Given the description of an element on the screen output the (x, y) to click on. 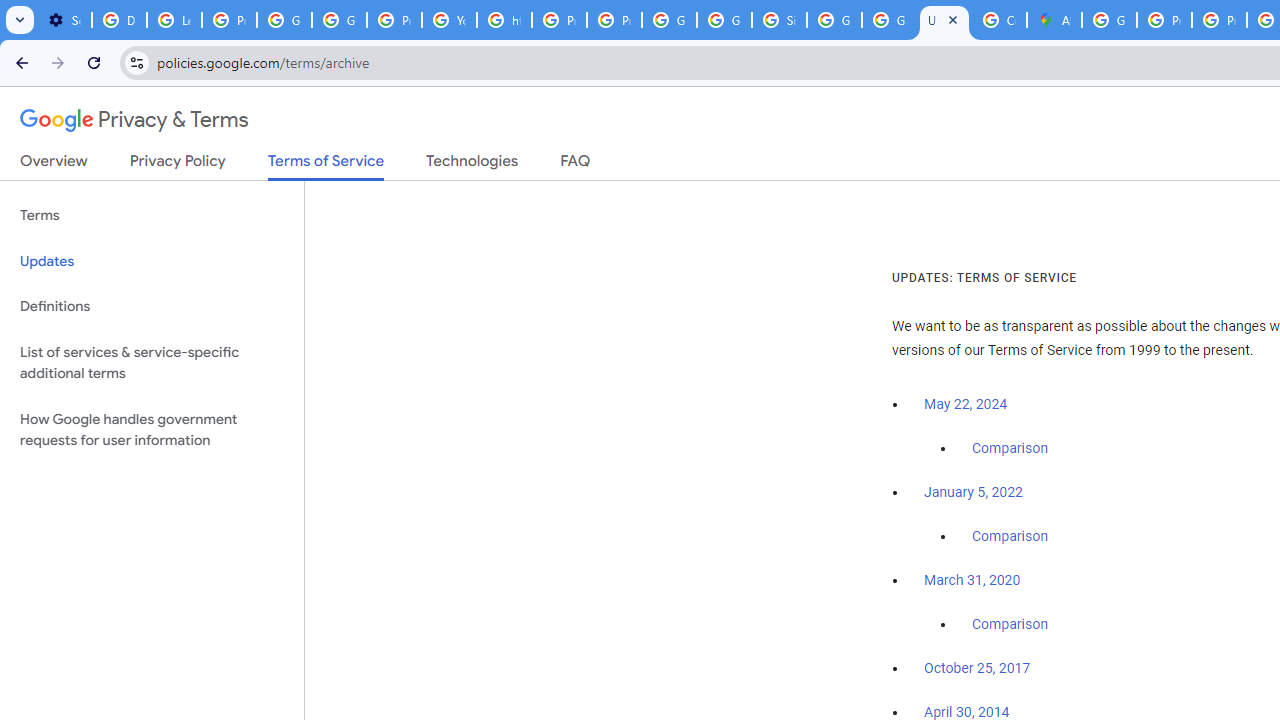
Sign in - Google Accounts (779, 20)
Privacy Help Center - Policies Help (1218, 20)
Definitions (152, 306)
FAQ (575, 165)
Terms (152, 215)
May 22, 2024 (966, 404)
